Given the description of an element on the screen output the (x, y) to click on. 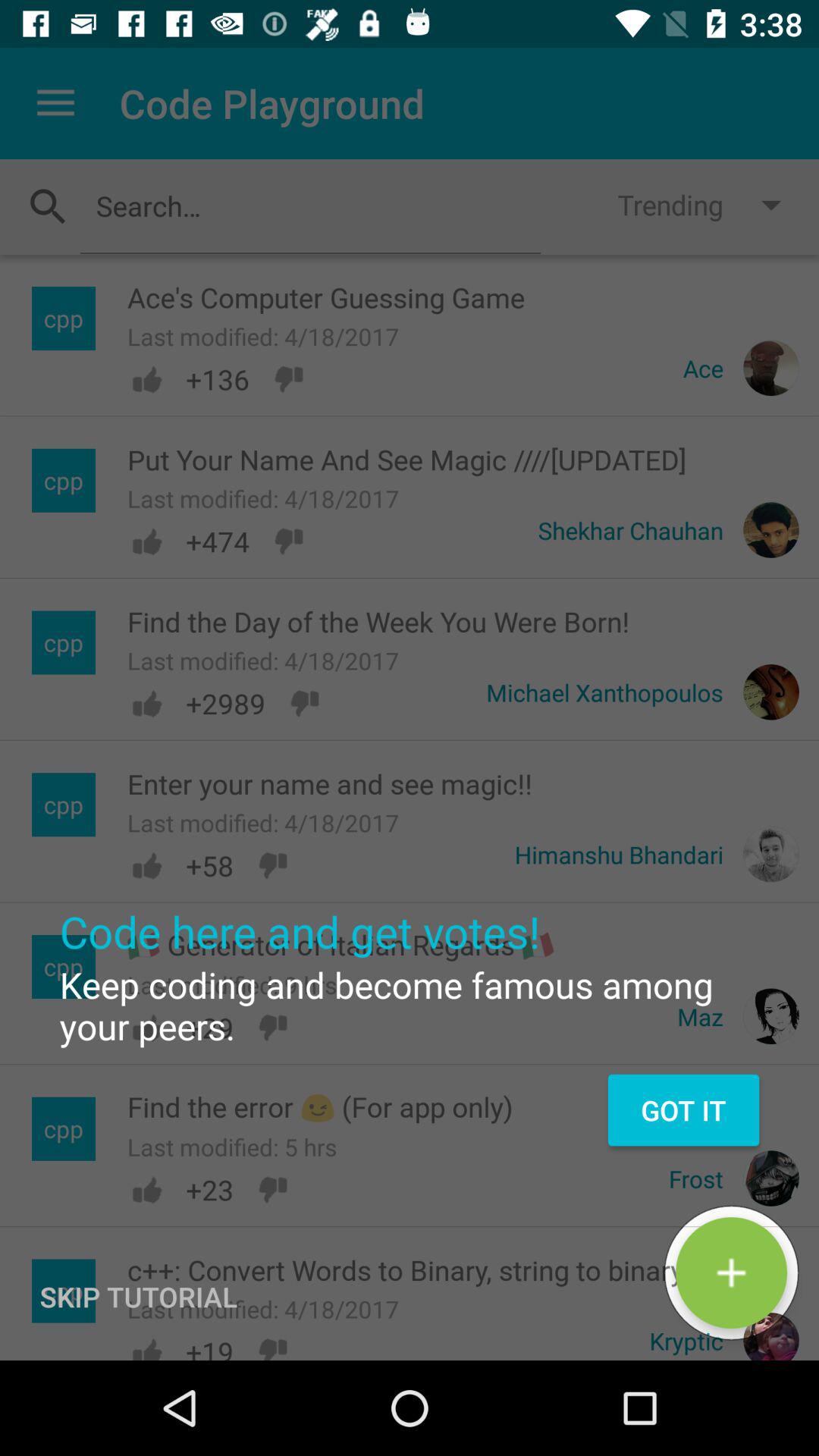
tap item next to trending item (310, 205)
